Given the description of an element on the screen output the (x, y) to click on. 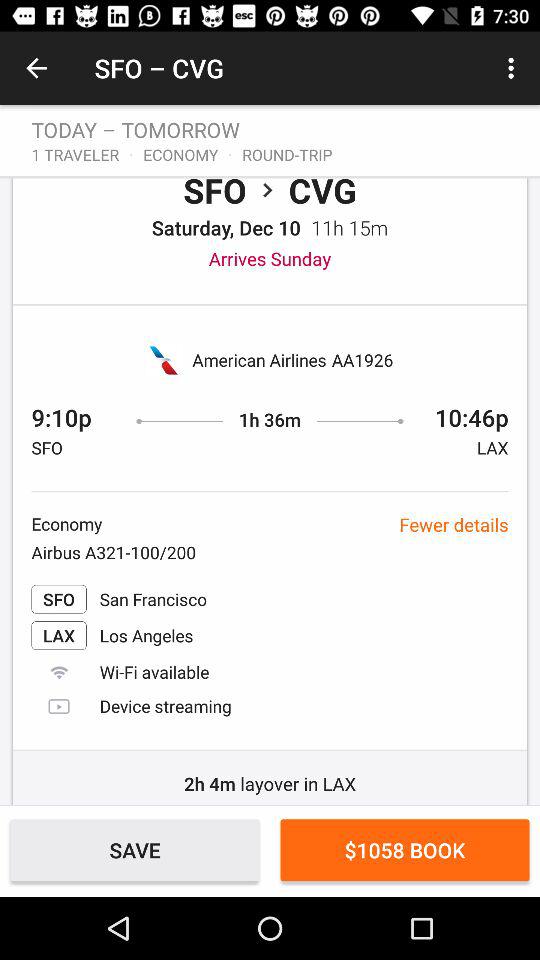
flip to save icon (134, 850)
